Given the description of an element on the screen output the (x, y) to click on. 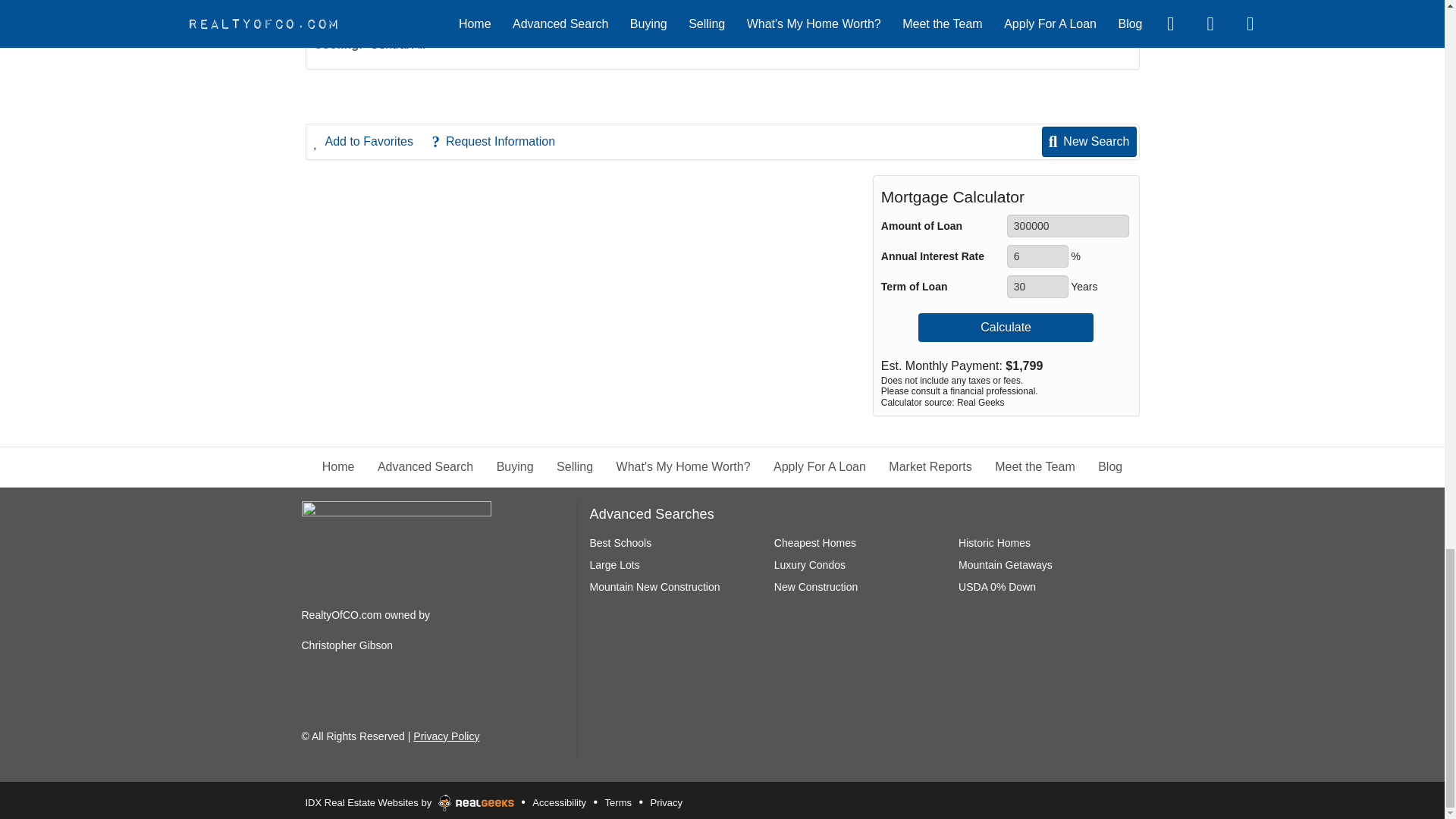
300000 (1068, 225)
30 (1037, 286)
6 (1037, 255)
